Given the description of an element on the screen output the (x, y) to click on. 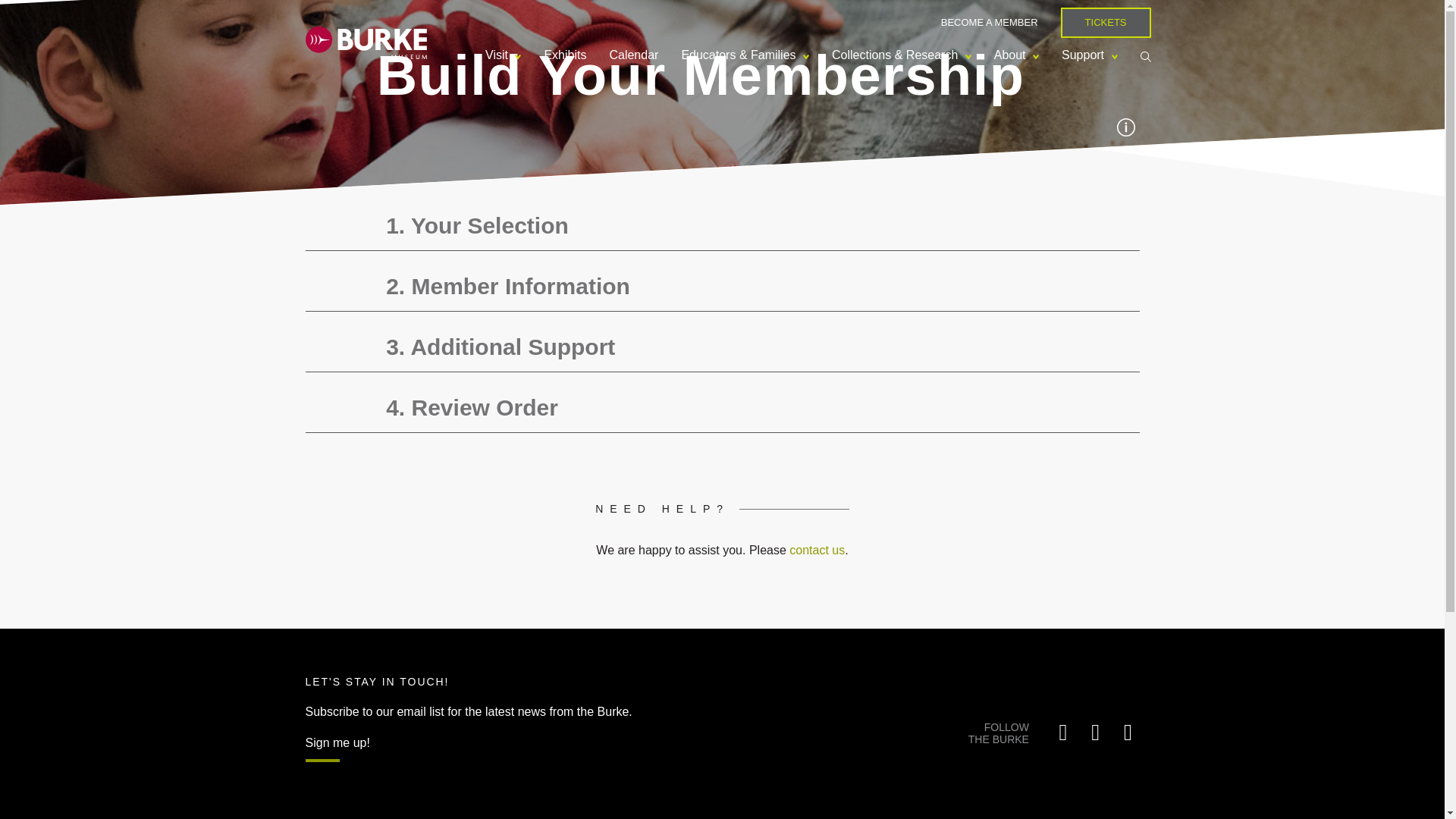
Exhibits (564, 54)
Home (365, 41)
Calendar (632, 54)
Visit (503, 54)
BECOME A MEMBER (989, 21)
TICKETS (1106, 22)
